Given the description of an element on the screen output the (x, y) to click on. 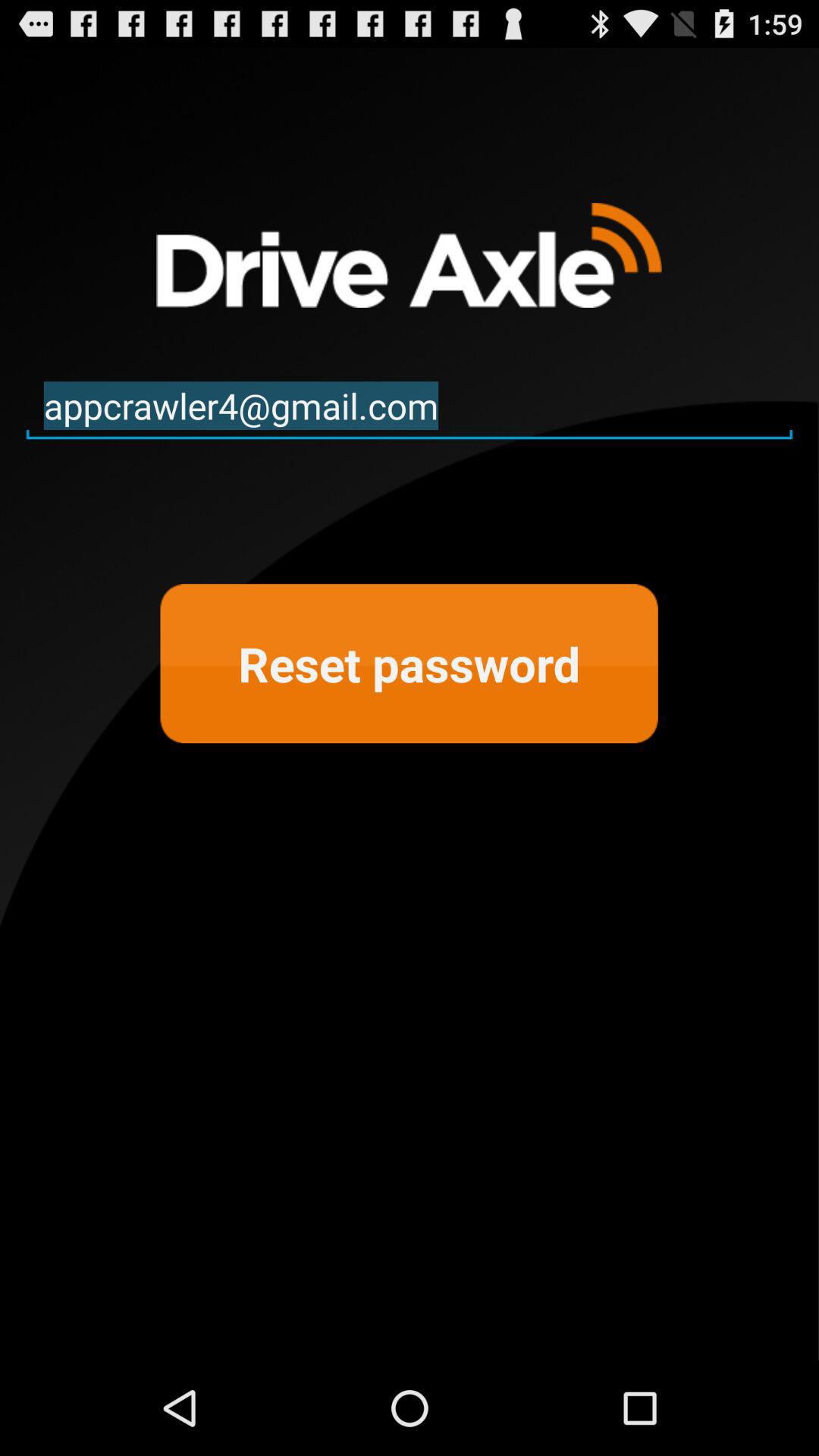
turn off reset password (409, 663)
